Given the description of an element on the screen output the (x, y) to click on. 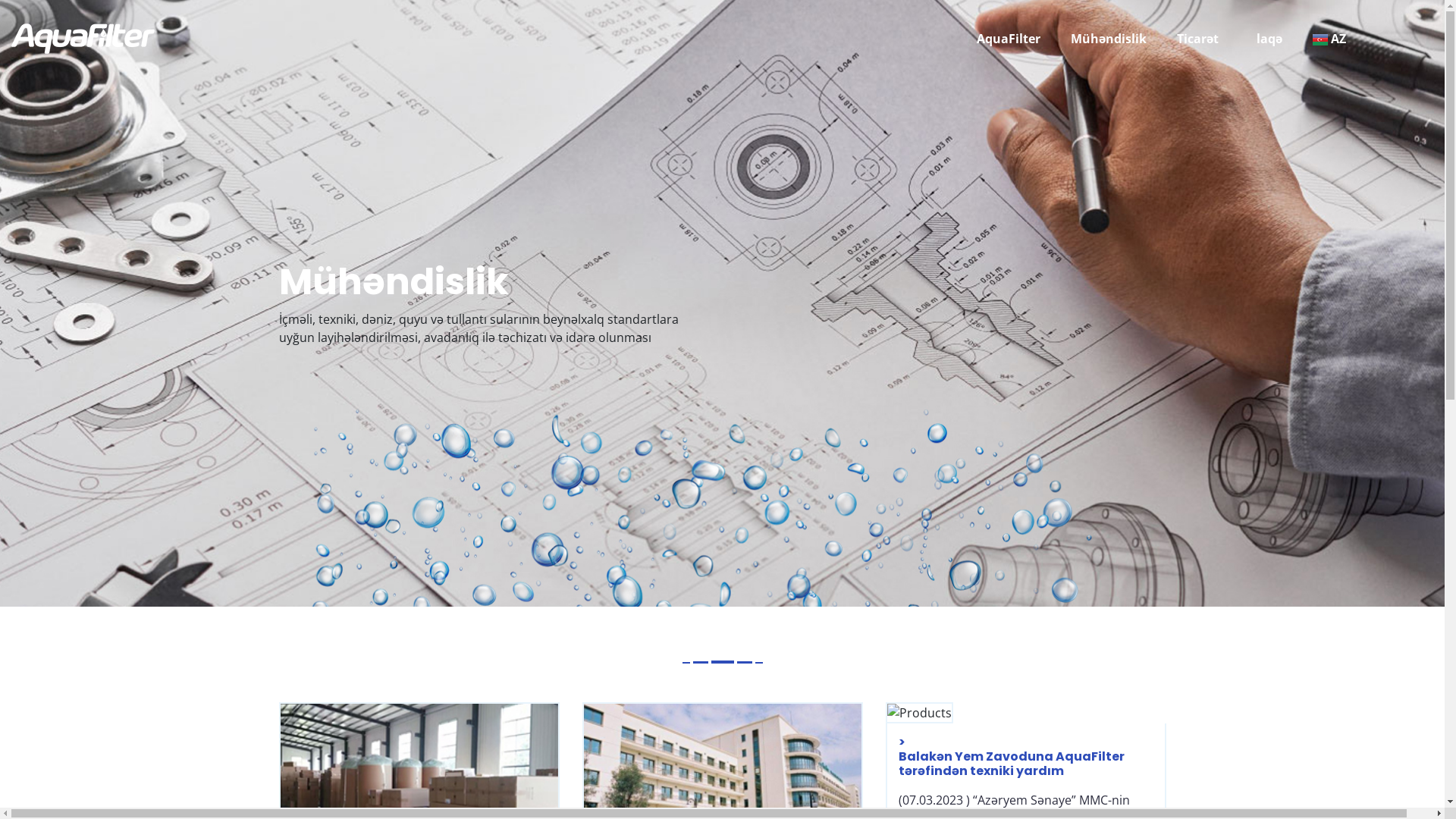
AquaFilter Element type: text (1008, 38)
AZ Element type: text (1329, 38)
